Given the description of an element on the screen output the (x, y) to click on. 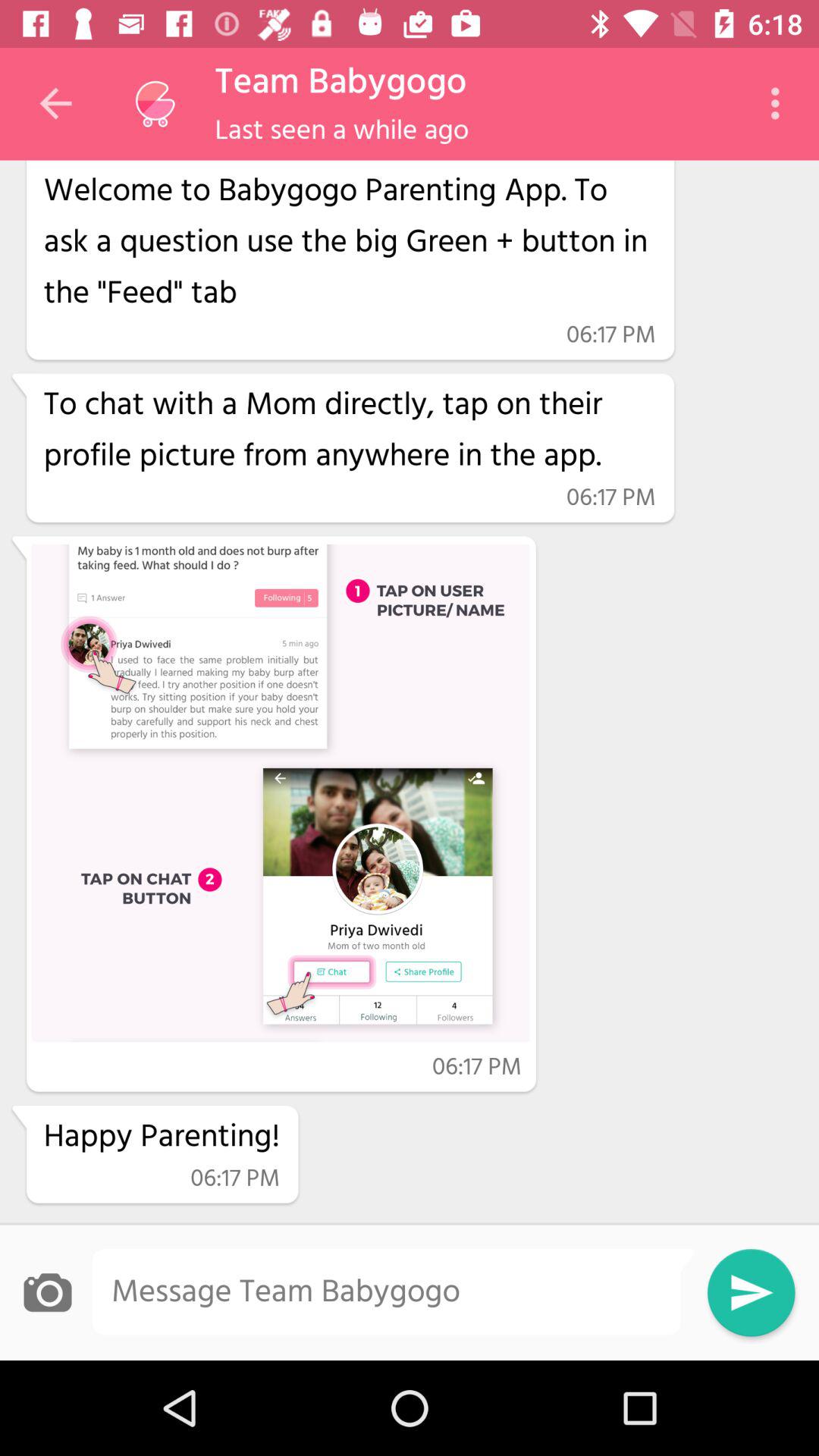
insert or take photo (47, 1292)
